Given the description of an element on the screen output the (x, y) to click on. 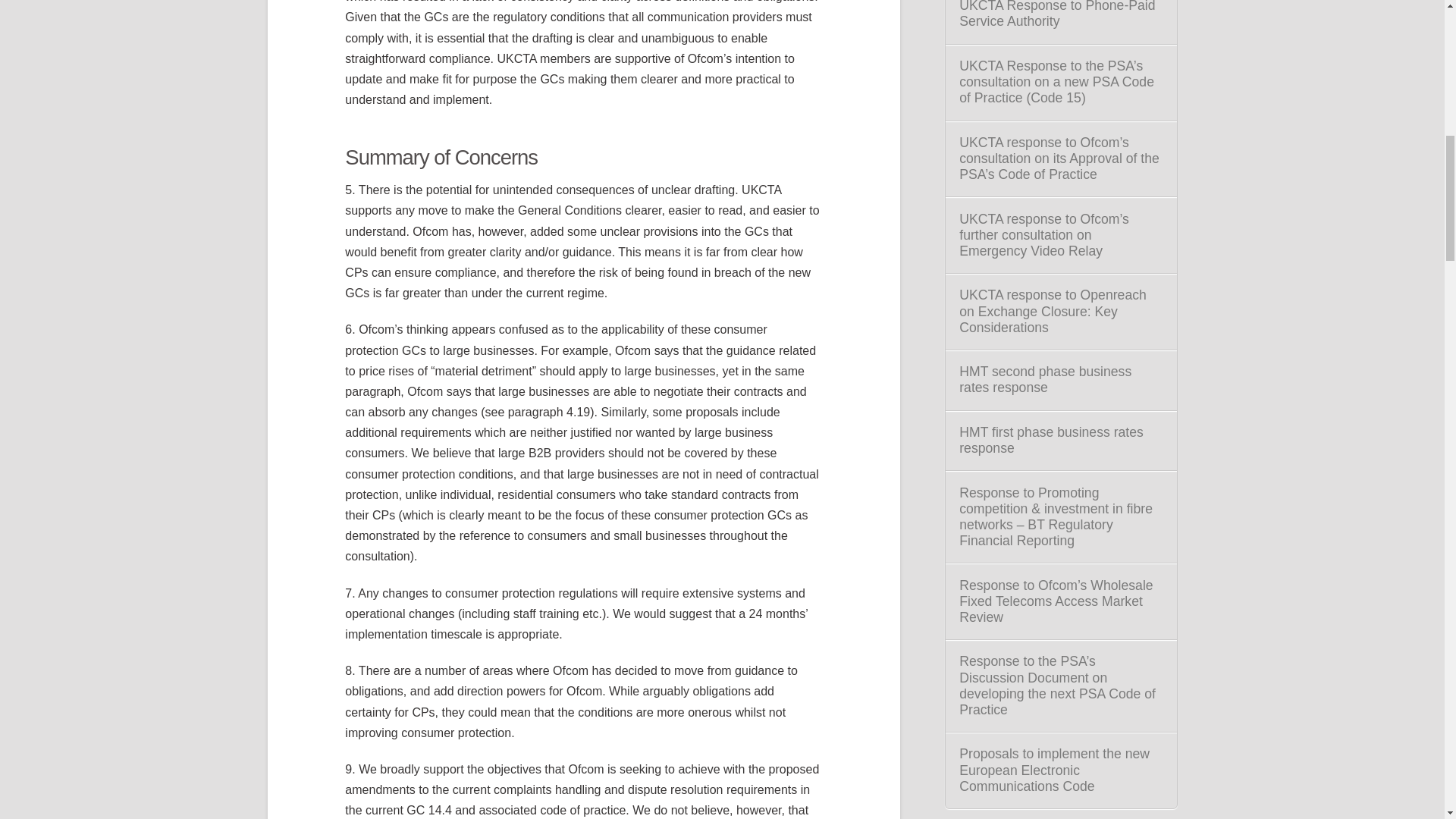
HMT second phase business rates response (1060, 379)
HMT first phase business rates response (1060, 440)
UKCTA Response to Phone-Paid Service Authority (1060, 14)
